Given the description of an element on the screen output the (x, y) to click on. 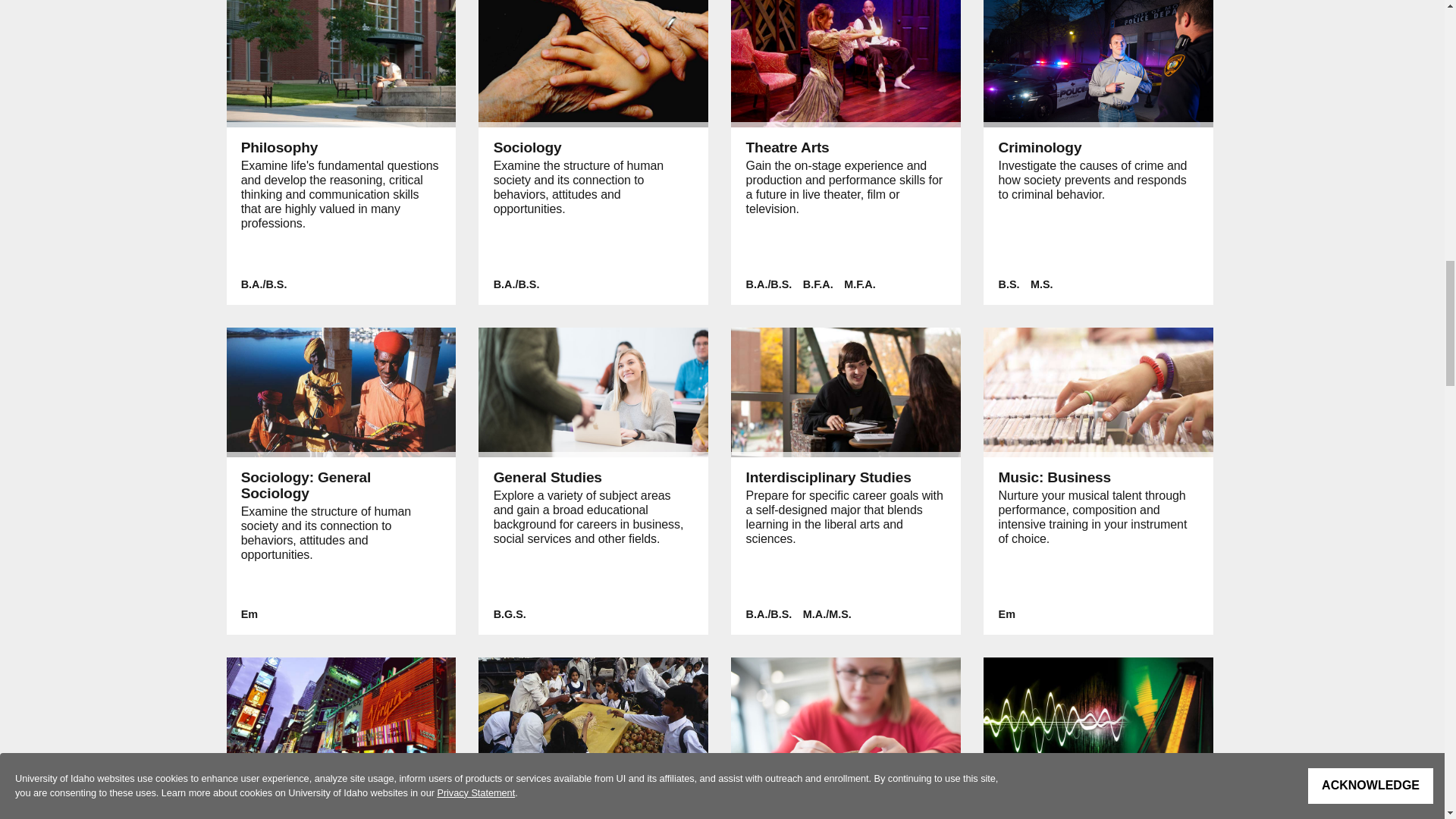
B.F.A. (817, 284)
M.F.A. (860, 284)
M.S. (1041, 284)
B.S. (1009, 284)
B.G.S. (509, 614)
Em (249, 614)
